Given the description of an element on the screen output the (x, y) to click on. 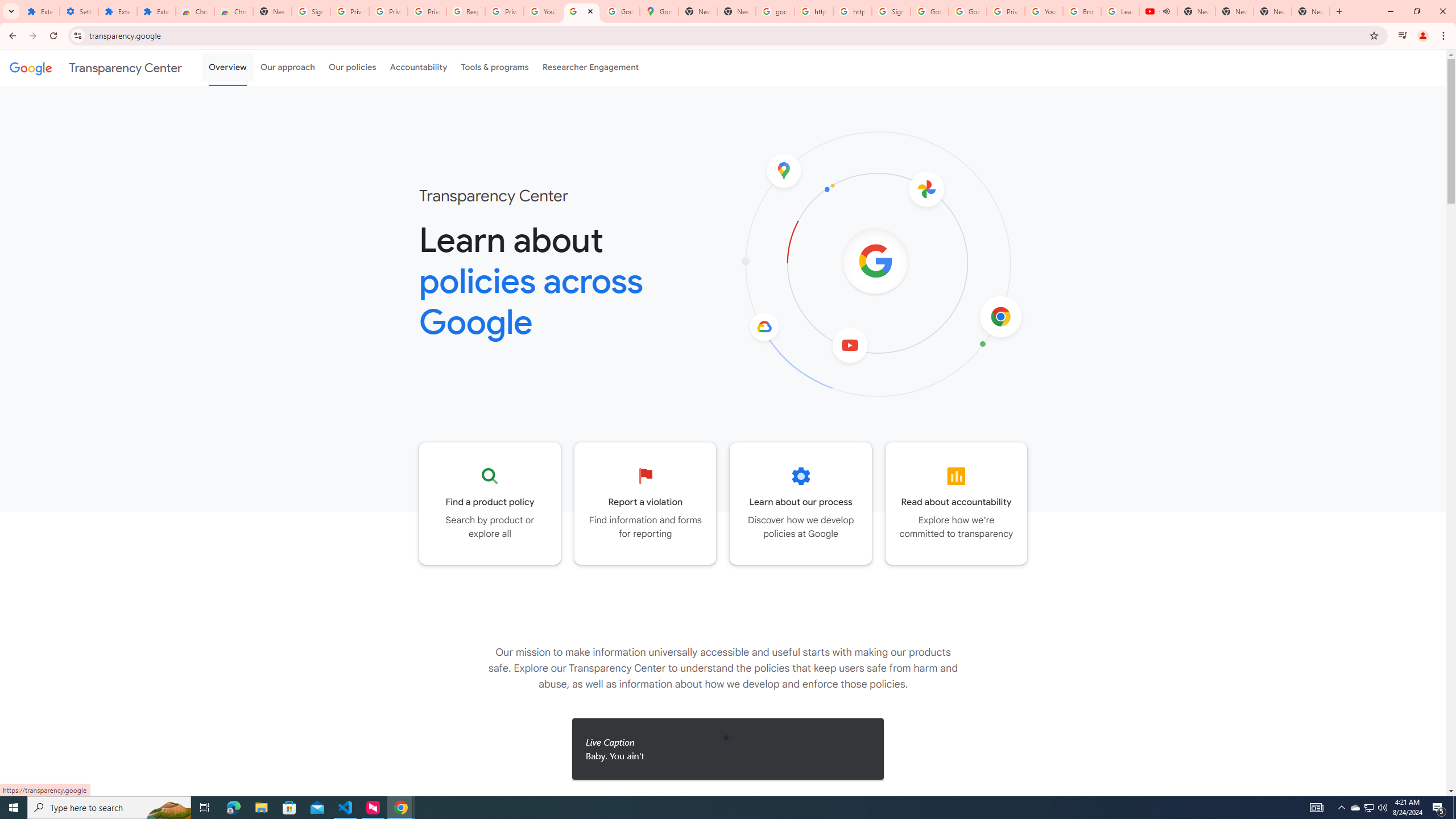
Extensions (117, 11)
Extensions (40, 11)
YouTube (1043, 11)
Go to the Our process page (800, 503)
YouTube (542, 11)
Chrome Web Store - Themes (233, 11)
